Given the description of an element on the screen output the (x, y) to click on. 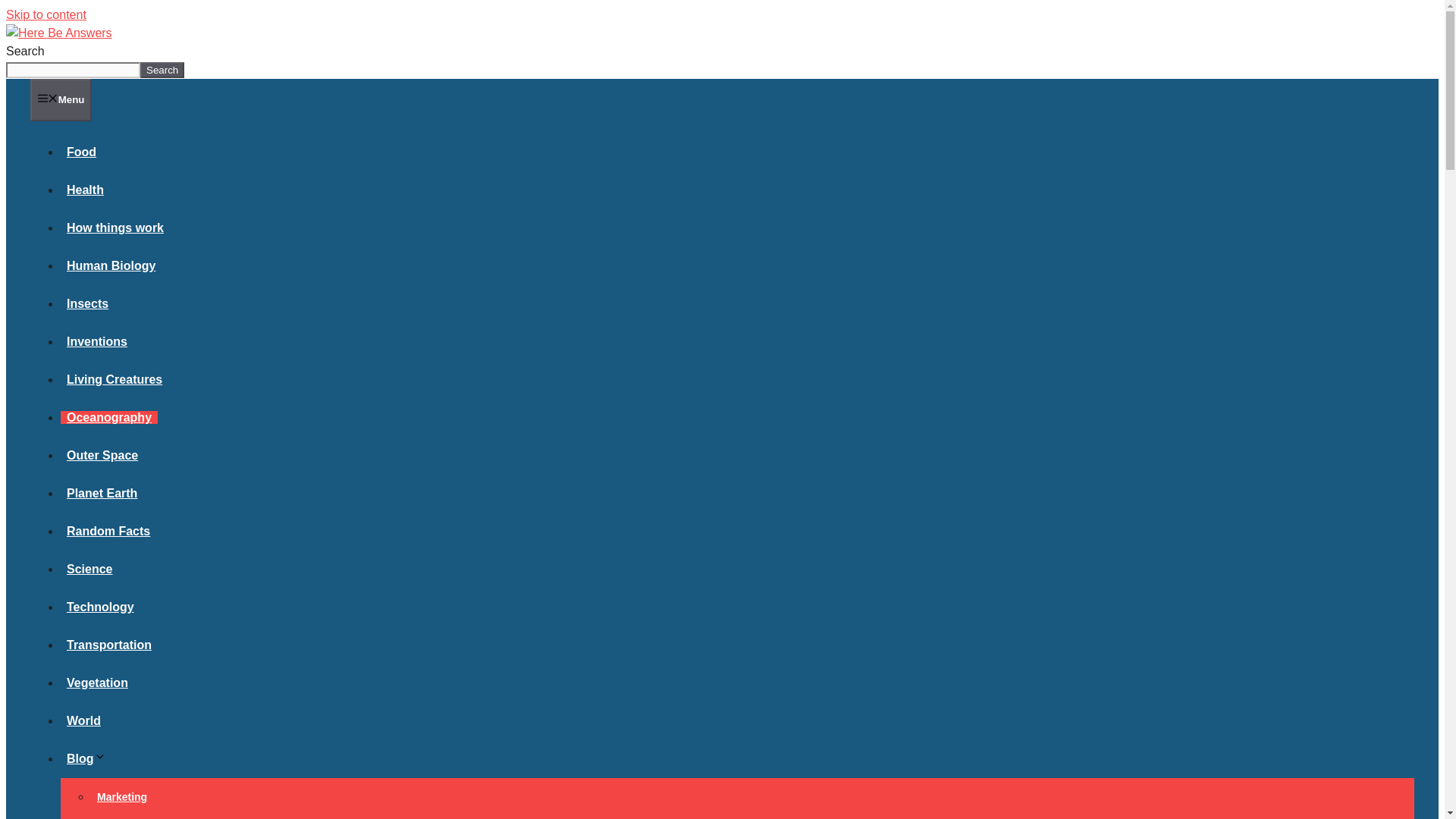
Science (89, 568)
Planet Earth (101, 492)
Search (161, 69)
Menu (60, 99)
Skip to content (45, 14)
Transportation (109, 644)
Insects (88, 303)
Oceanography (109, 417)
Health (85, 189)
Skip to content (45, 14)
